Given the description of an element on the screen output the (x, y) to click on. 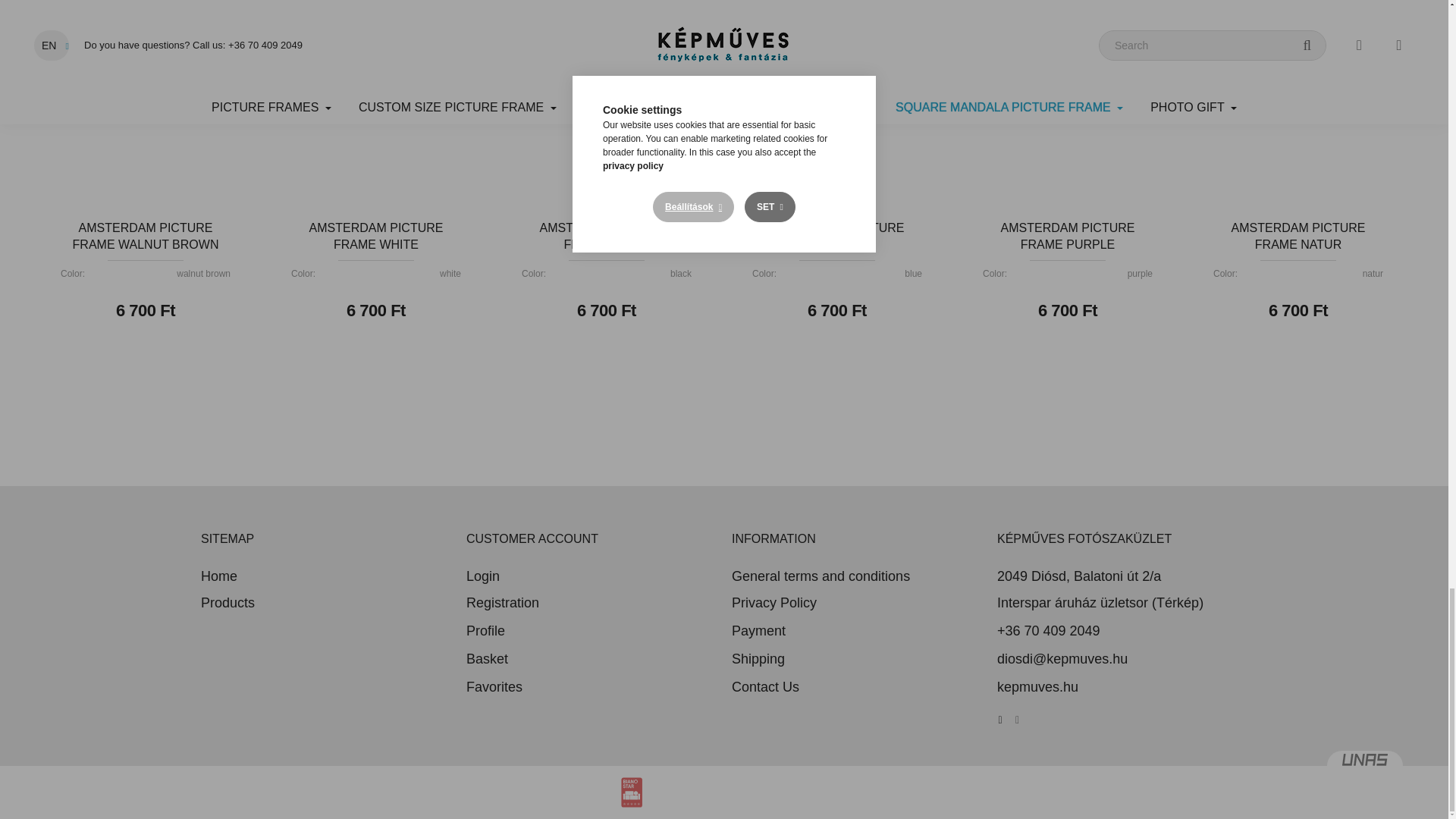
Amsterdam picture frame black (606, 104)
Amsterdam picture frame walnut brown (145, 104)
Amsterdam picture frame white (376, 104)
